Given the description of an element on the screen output the (x, y) to click on. 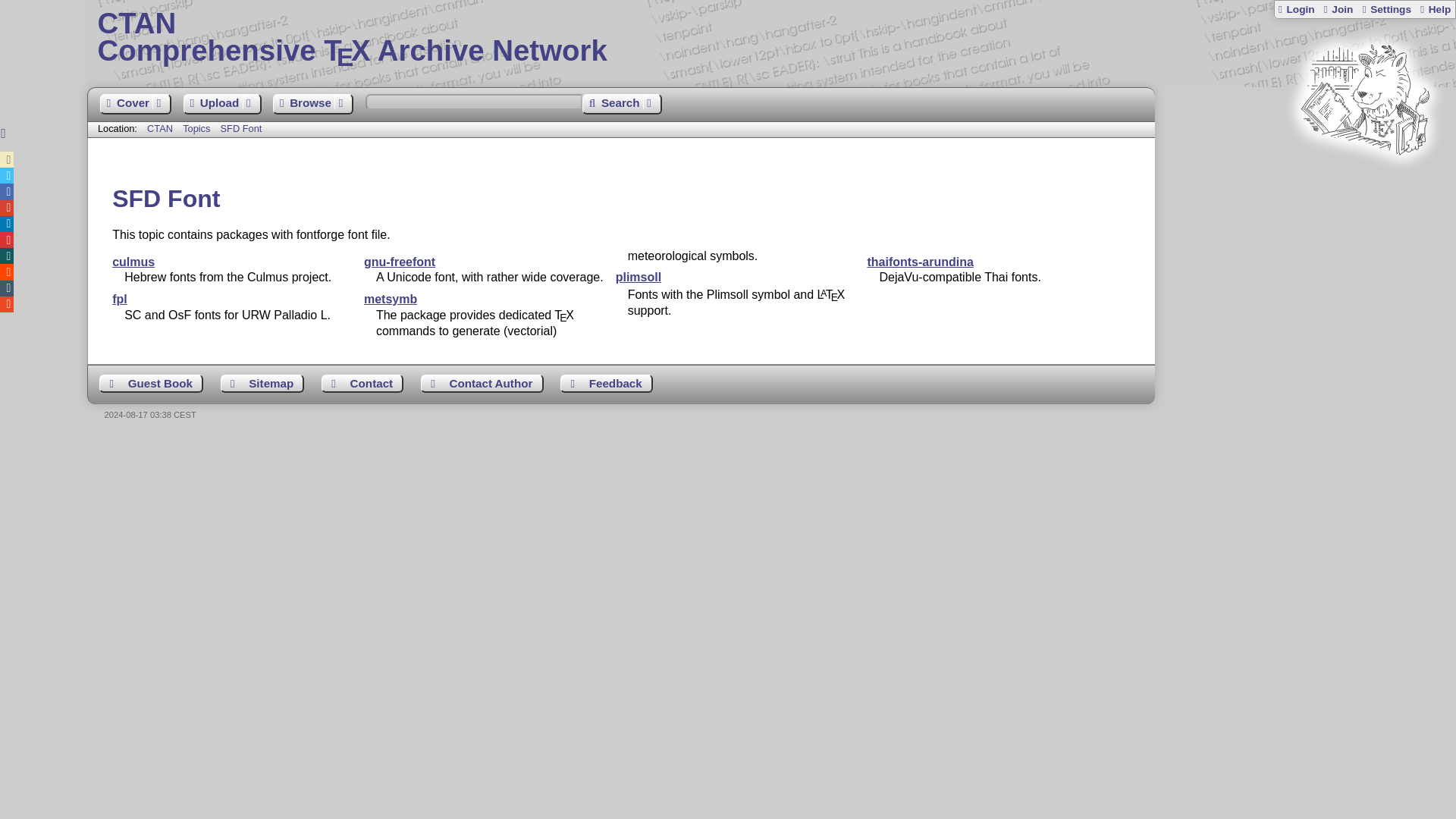
Get help on how to contact an author (481, 383)
Send feedback on the current web page to the Web masters (606, 383)
Guest Book (771, 37)
Adjust the appearance to your taste (151, 383)
Sitemap (1385, 8)
thaifonts-arundina (262, 383)
Cover (919, 261)
metsymb (135, 104)
fpl (390, 298)
